Given the description of an element on the screen output the (x, y) to click on. 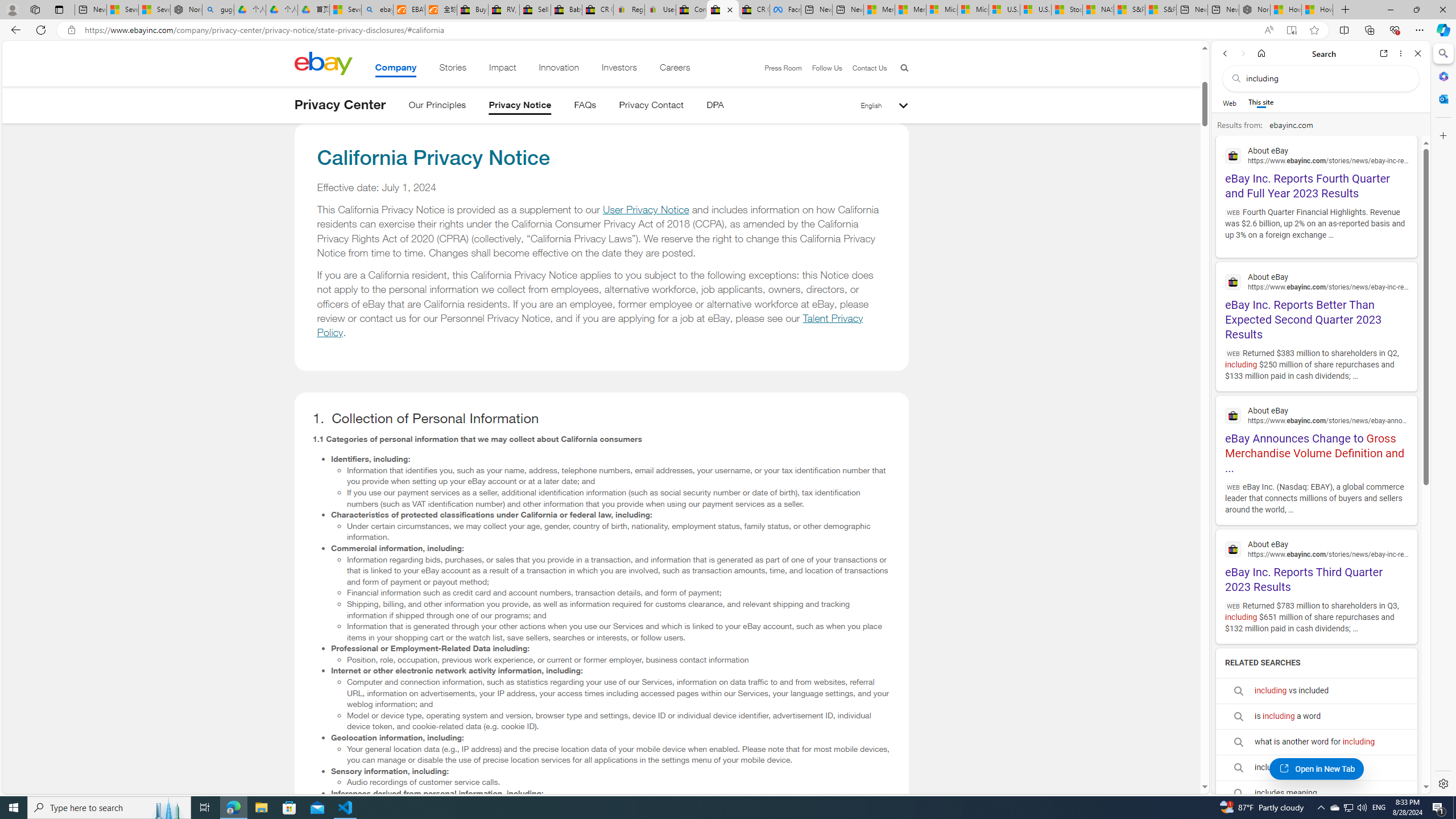
User Privacy Notice (645, 209)
is including a word (1315, 716)
Forward (1242, 53)
